Given the description of an element on the screen output the (x, y) to click on. 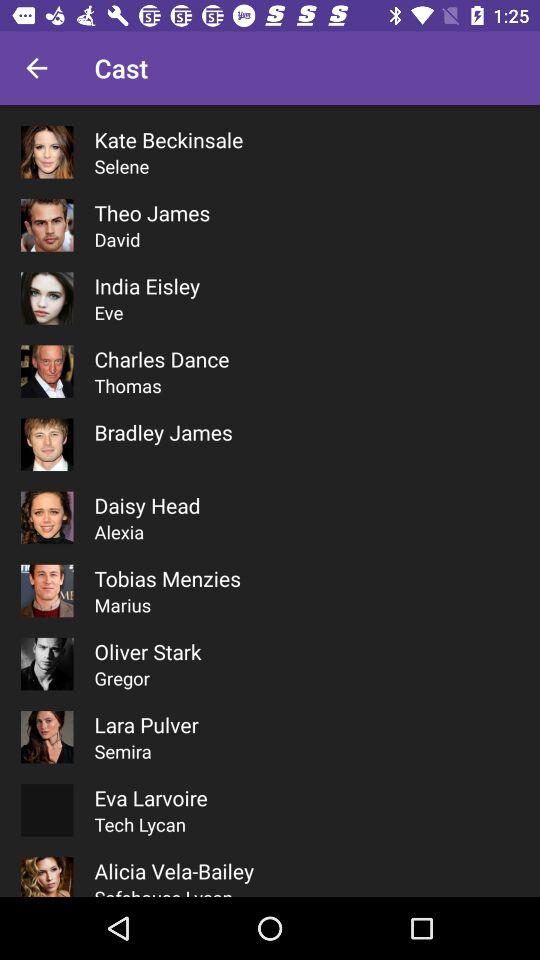
open the india eisley (147, 285)
